Given the description of an element on the screen output the (x, y) to click on. 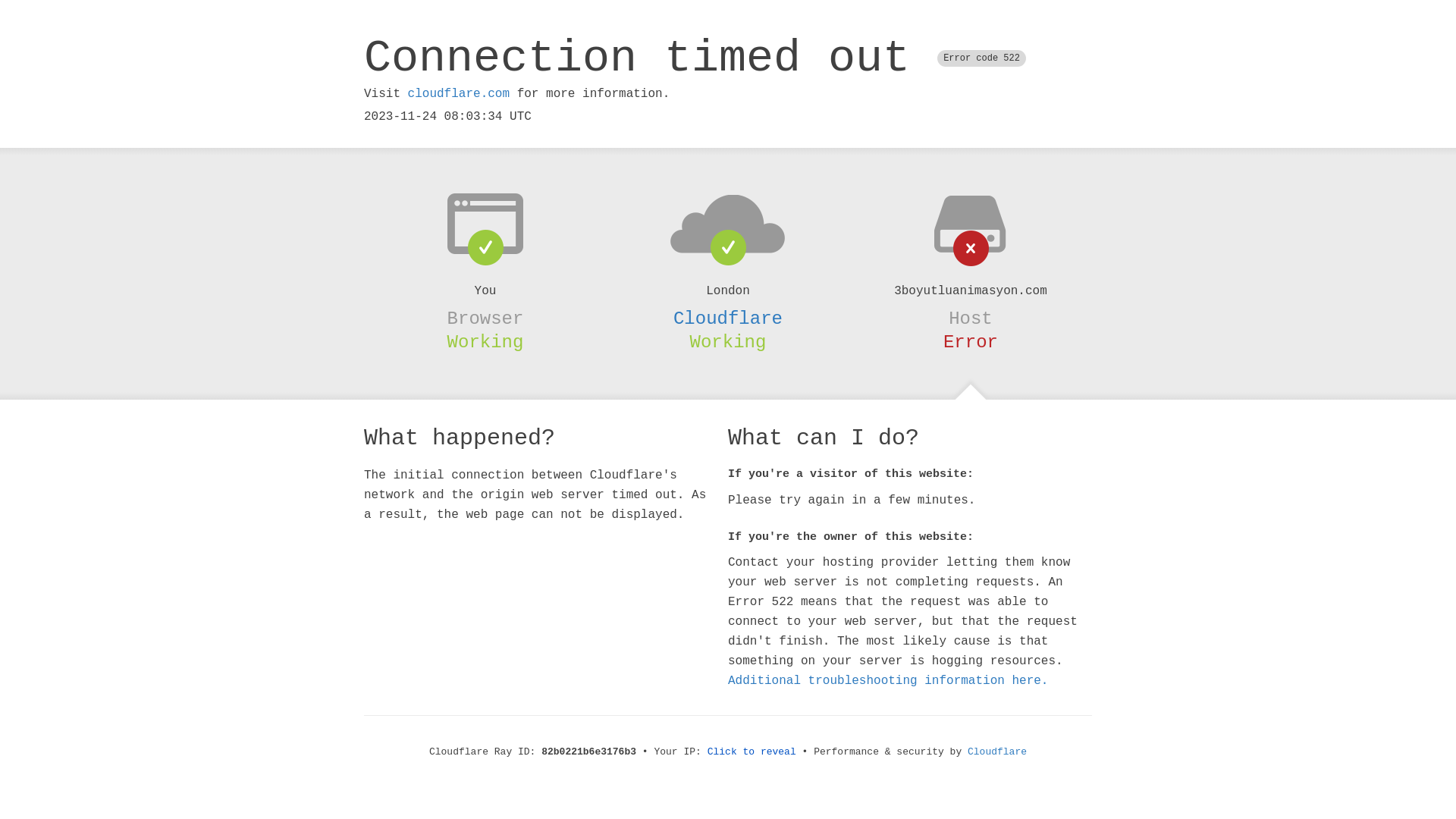
Click to reveal Element type: text (751, 751)
Additional troubleshooting information here. Element type: text (888, 680)
Cloudflare Element type: text (727, 318)
Cloudflare Element type: text (996, 751)
cloudflare.com Element type: text (458, 93)
